Given the description of an element on the screen output the (x, y) to click on. 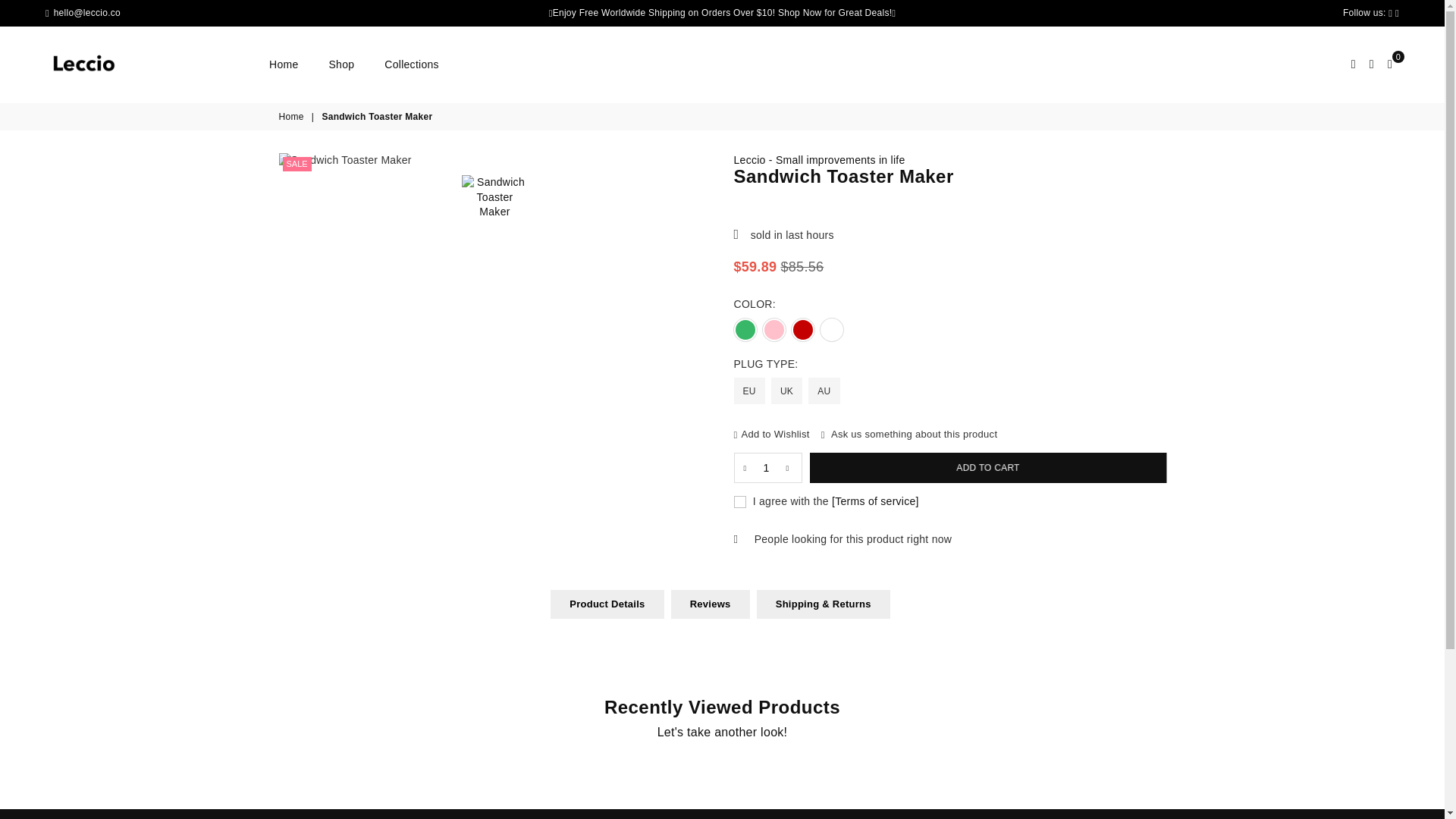
Leccio - Small improvements in life (151, 64)
Shop (341, 64)
Back to the home page (292, 116)
Home (292, 116)
Home (282, 64)
Leccio - Small improvements in life (819, 159)
Quantity (767, 467)
Collections (410, 64)
